Given the description of an element on the screen output the (x, y) to click on. 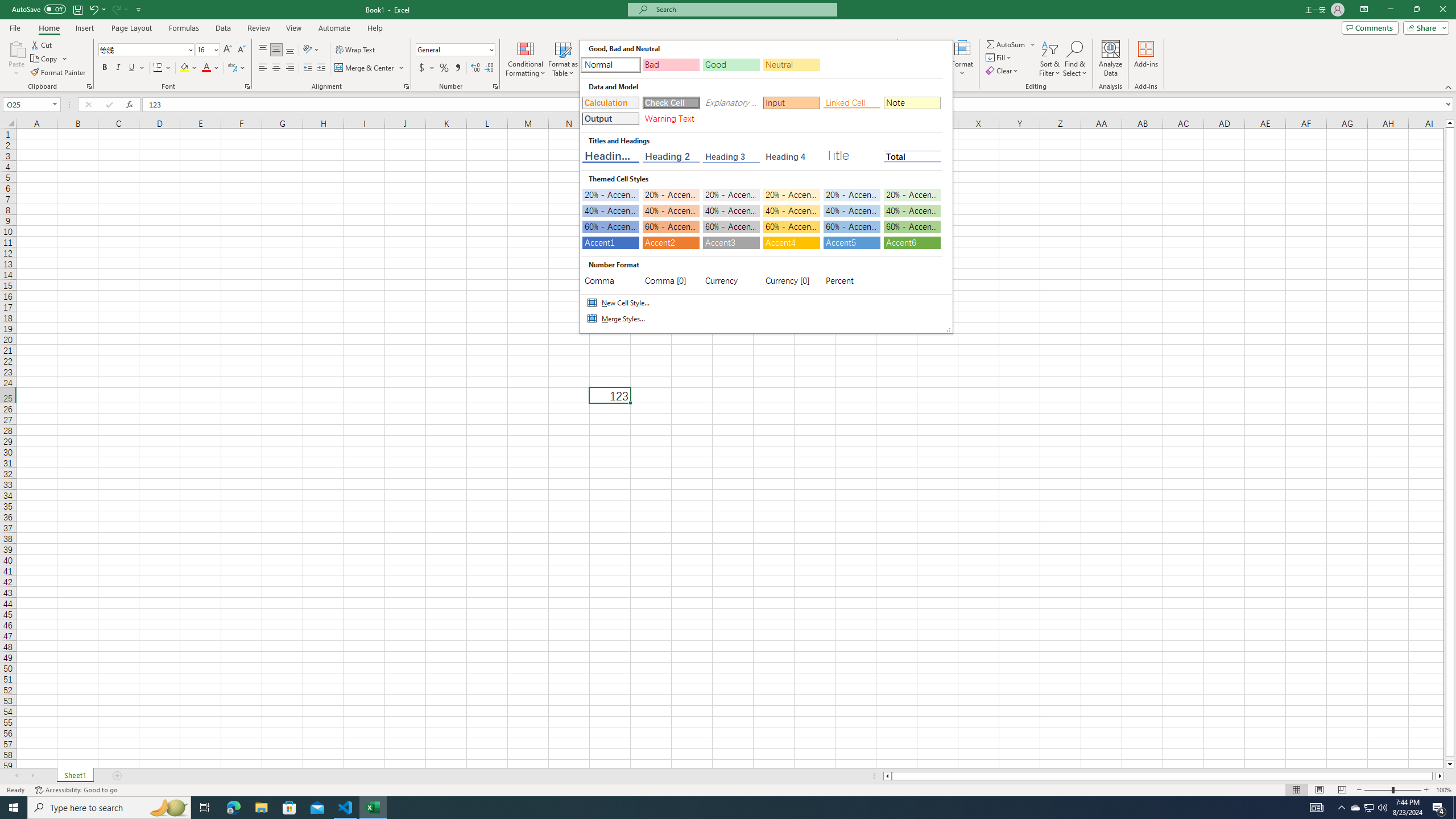
Merge & Center (365, 67)
Running applications (717, 807)
Format as Table (563, 58)
Fill Color RGB(255, 255, 0) (183, 67)
AutoSum (1011, 44)
User Promoted Notification Area (1368, 807)
Top Align (262, 49)
